Given the description of an element on the screen output the (x, y) to click on. 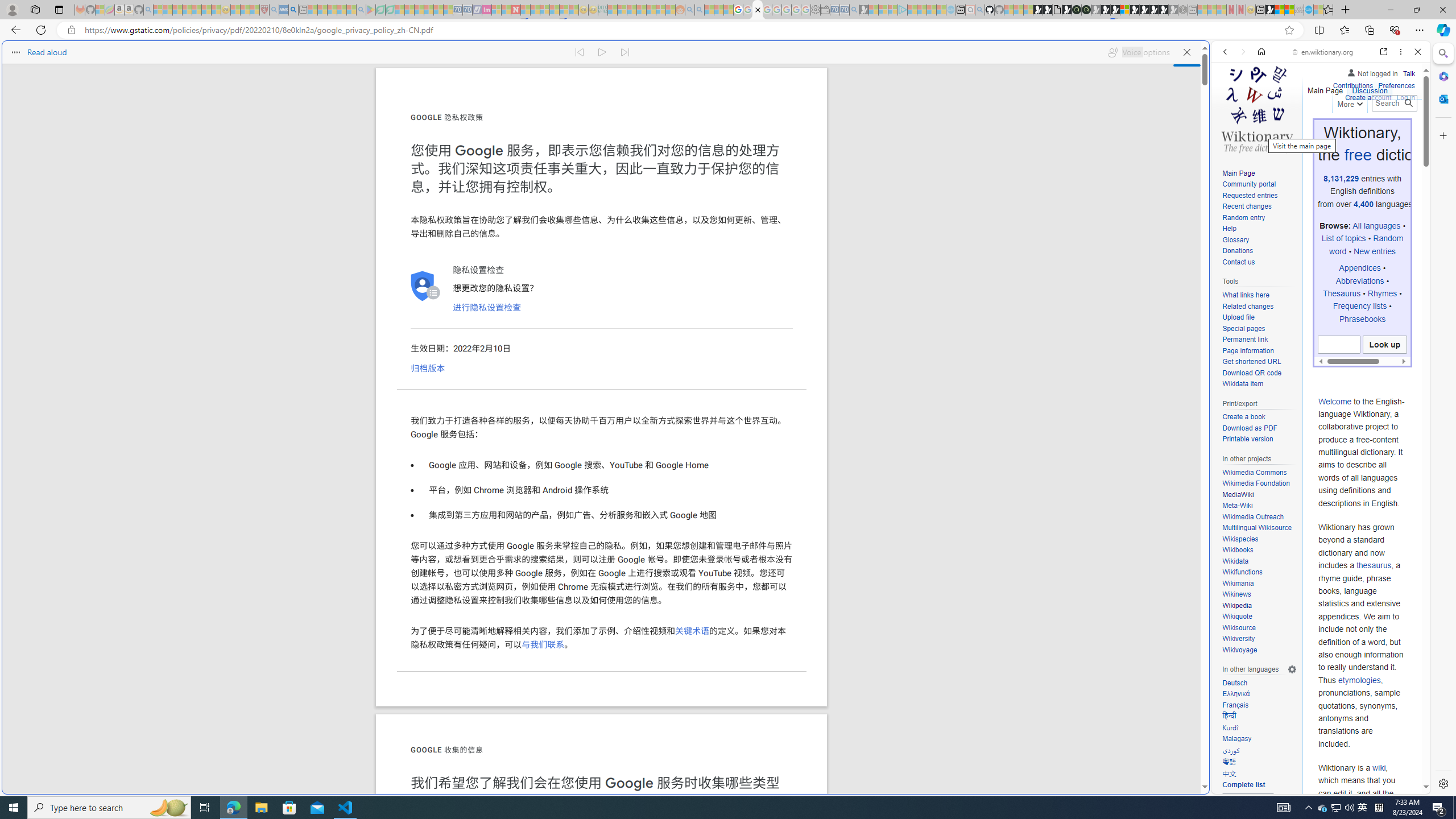
Community portal (1259, 184)
wiki (1378, 768)
Contact us (1238, 261)
Requested entries (1249, 194)
Random entry (1243, 216)
Play Zoo Boom in your browser | Games from Microsoft Start (1047, 9)
